Given the description of an element on the screen output the (x, y) to click on. 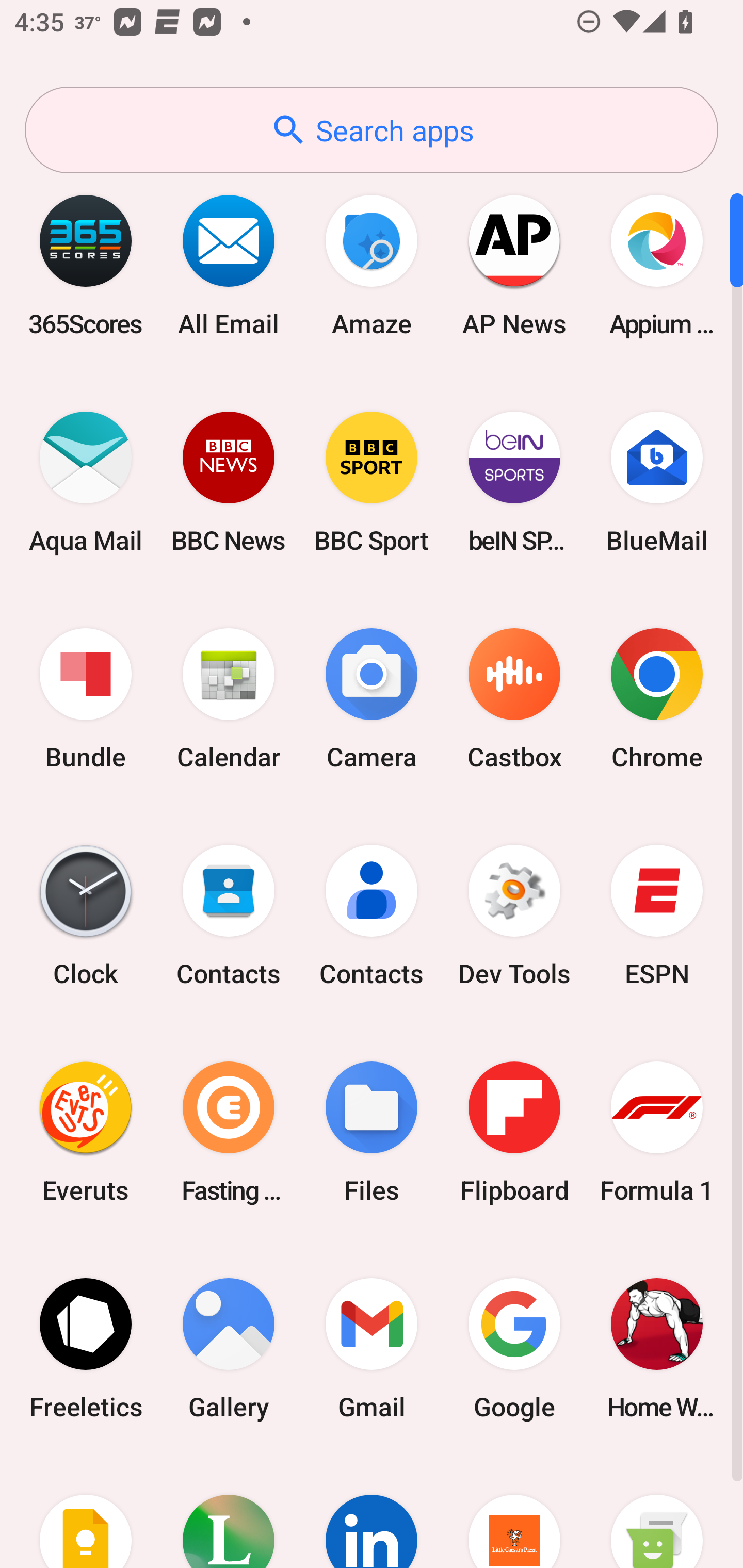
  Search apps (371, 130)
365Scores (85, 264)
All Email (228, 264)
Amaze (371, 264)
AP News (514, 264)
Appium Settings (656, 264)
Aqua Mail (85, 482)
BBC News (228, 482)
BBC Sport (371, 482)
beIN SPORTS (514, 482)
BlueMail (656, 482)
Bundle (85, 699)
Calendar (228, 699)
Camera (371, 699)
Castbox (514, 699)
Chrome (656, 699)
Clock (85, 915)
Contacts (228, 915)
Contacts (371, 915)
Dev Tools (514, 915)
ESPN (656, 915)
Everuts (85, 1131)
Fasting Coach (228, 1131)
Files (371, 1131)
Flipboard (514, 1131)
Formula 1 (656, 1131)
Freeletics (85, 1348)
Gallery (228, 1348)
Gmail (371, 1348)
Google (514, 1348)
Home Workout (656, 1348)
Keep Notes (85, 1512)
Lifesum (228, 1512)
LinkedIn (371, 1512)
Little Caesars Pizza (514, 1512)
Messaging (656, 1512)
